Given the description of an element on the screen output the (x, y) to click on. 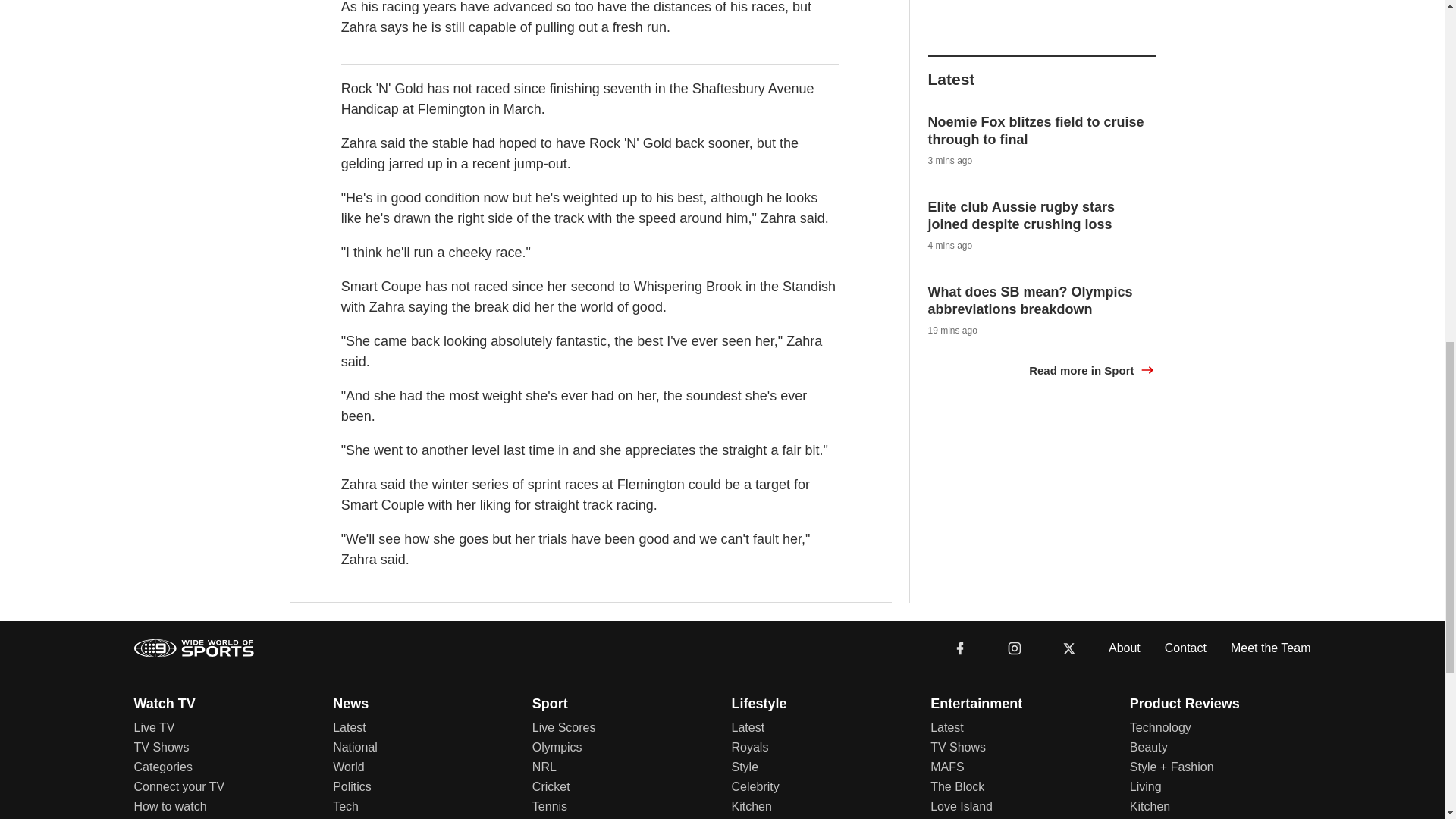
Contact (1185, 647)
TV Shows (161, 747)
Categories (162, 766)
x (1069, 646)
facebook (959, 646)
Watch TV (164, 703)
Live TV (153, 727)
Connect your TV (178, 786)
Meet the Team (1270, 647)
instagram (1013, 646)
instagram (1013, 646)
facebook (960, 648)
About (1124, 647)
facebook (959, 646)
instagram (1014, 648)
